Given the description of an element on the screen output the (x, y) to click on. 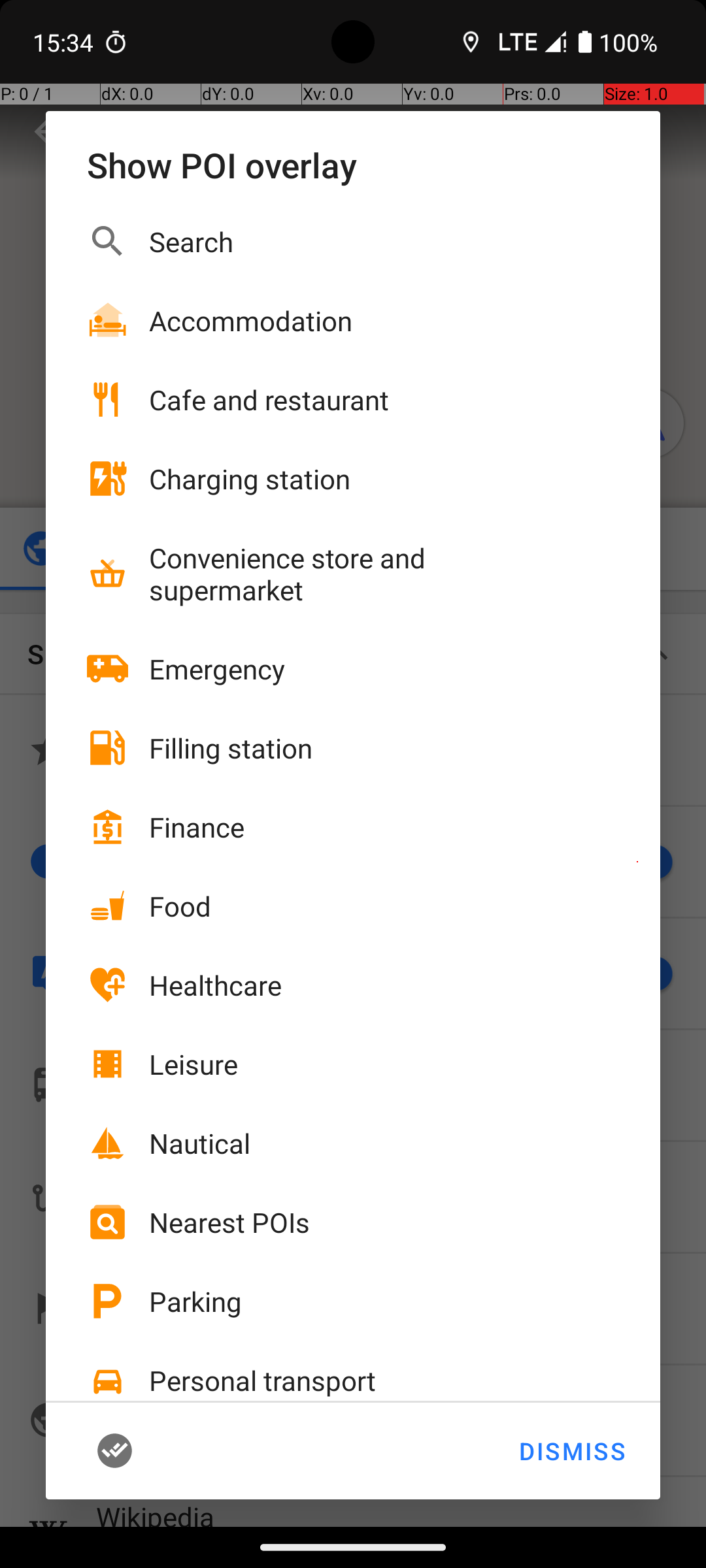
Show POI overlay Element type: android.widget.TextView (352, 164)
  Element type: android.widget.Button (135, 1450)
DISMISS Element type: android.widget.Button (571, 1450)
Accommodation Element type: android.widget.TextView (250, 320)
Cafe and restaurant Element type: android.widget.TextView (269, 399)
Charging station Element type: android.widget.TextView (249, 478)
Convenience store and supermarket Element type: android.widget.TextView (359, 573)
Emergency Element type: android.widget.TextView (217, 668)
Filling station Element type: android.widget.TextView (230, 747)
Healthcare Element type: android.widget.TextView (215, 984)
Leisure Element type: android.widget.TextView (193, 1063)
Nautical Element type: android.widget.TextView (199, 1142)
Nearest POIs Element type: android.widget.TextView (229, 1221)
Parking Element type: android.widget.TextView (195, 1300)
Personal transport Element type: android.widget.TextView (262, 1379)
